Given the description of an element on the screen output the (x, y) to click on. 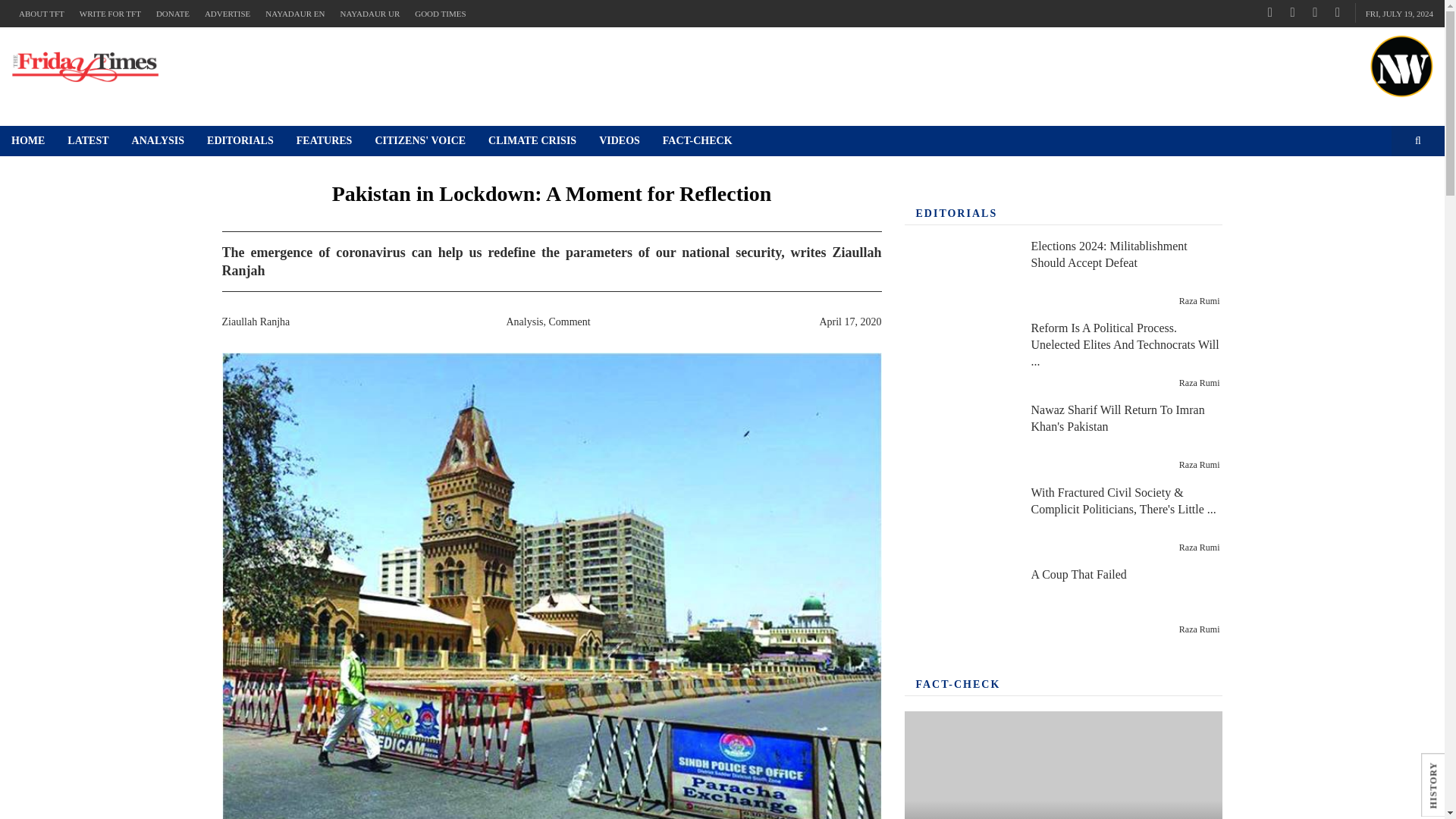
FEATURES (324, 141)
GOOD TIMES (440, 13)
ADVERTISE (226, 13)
A Coup That Failed (959, 601)
Ziaullah Ranjha (255, 321)
HOME (28, 141)
ANALYSIS (158, 141)
FACT-CHECK (697, 141)
CITIZENS' VOICE (419, 141)
WRITE FOR TFT (109, 13)
Nawaz Sharif Will Return To Imran Khan's Pakistan (959, 437)
LATEST (87, 141)
DONATE (172, 13)
